Given the description of an element on the screen output the (x, y) to click on. 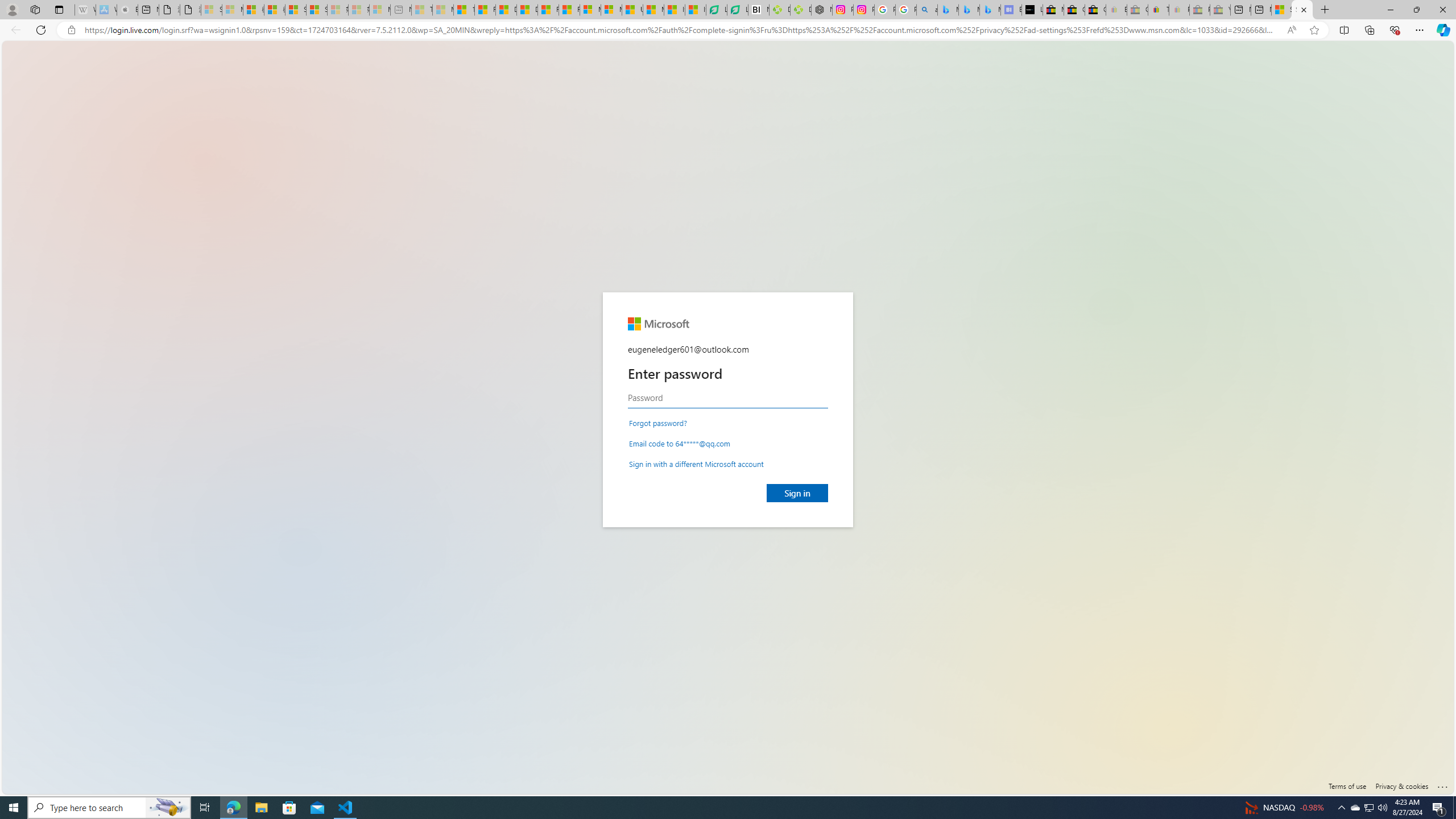
Buy iPad - Apple - Sleeping (127, 9)
Threats and offensive language policy | eBay (1157, 9)
Marine life - MSN - Sleeping (443, 9)
Forgot password? (657, 422)
